Given the description of an element on the screen output the (x, y) to click on. 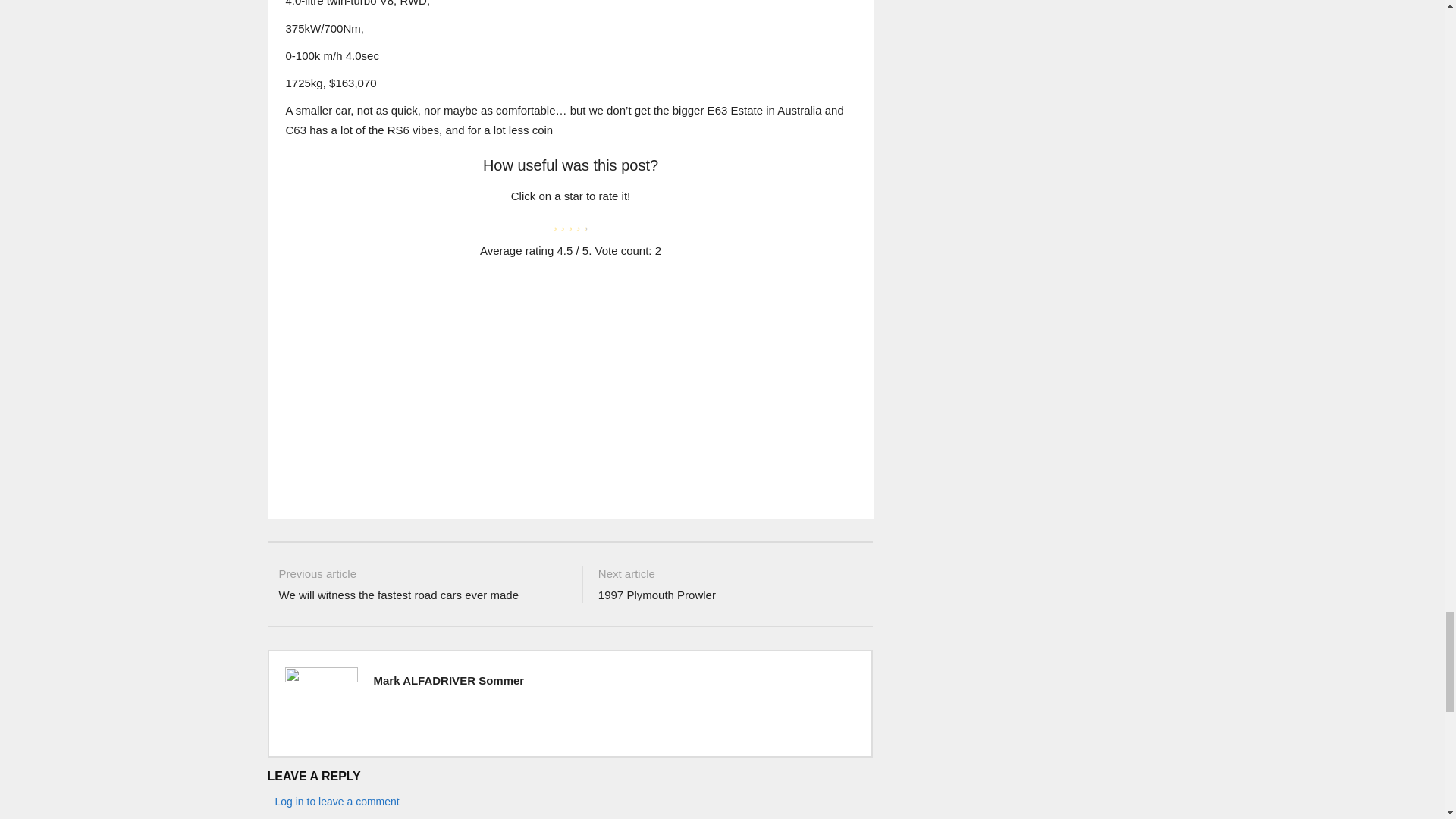
3rd party ad content (569, 386)
